Given the description of an element on the screen output the (x, y) to click on. 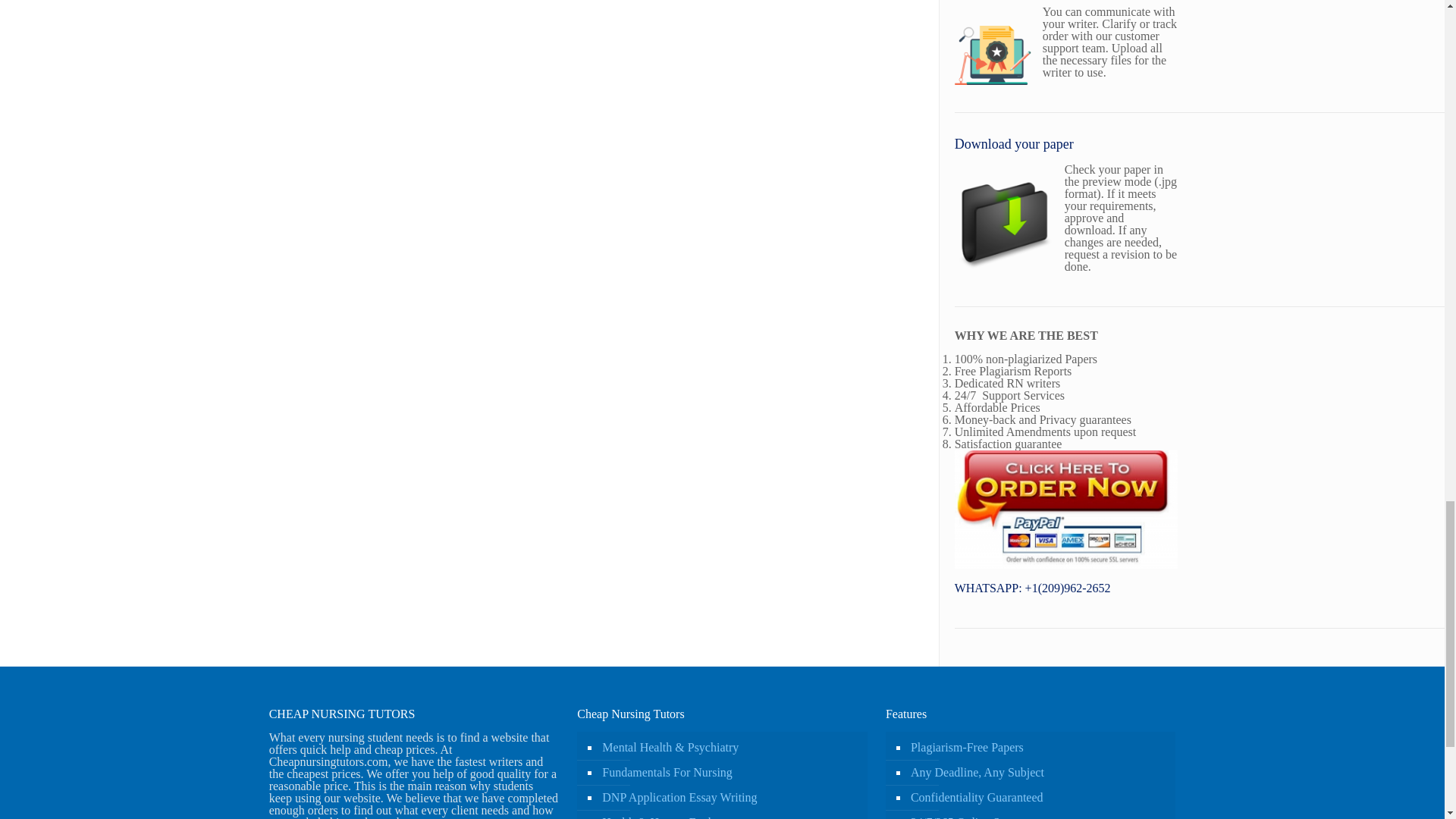
Confidentiality Guaranteed (1037, 797)
DNP Application Essay Writing (729, 797)
Any Deadline, Any Subject (1037, 772)
Plagiarism-Free Papers (1037, 747)
Fundamentals For Nursing (729, 772)
